Given the description of an element on the screen output the (x, y) to click on. 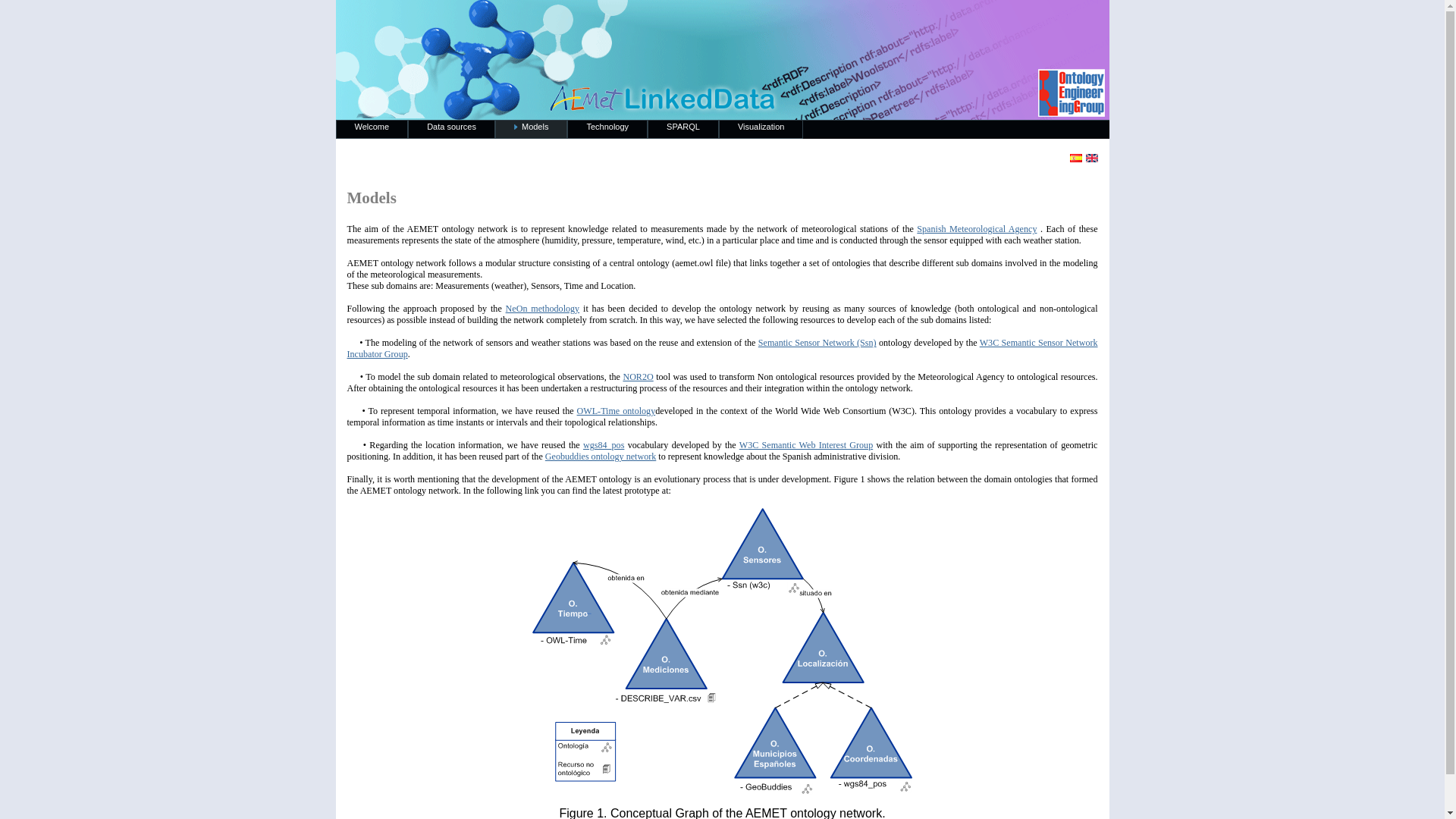
Models (531, 128)
W3C Semantic Web Interest Group (805, 444)
Data sources (451, 128)
W3C Semantic Sensor Network Incubator Group (722, 348)
English (1091, 157)
OWL-Time ontology (616, 410)
Spanish Meteorological Agency (976, 228)
NOR2O (637, 376)
NeOn methodology (542, 308)
Welcome (370, 128)
Technology (607, 128)
SPARQL (683, 128)
Geobuddies ontology network (600, 456)
Visualization (761, 128)
